Given the description of an element on the screen output the (x, y) to click on. 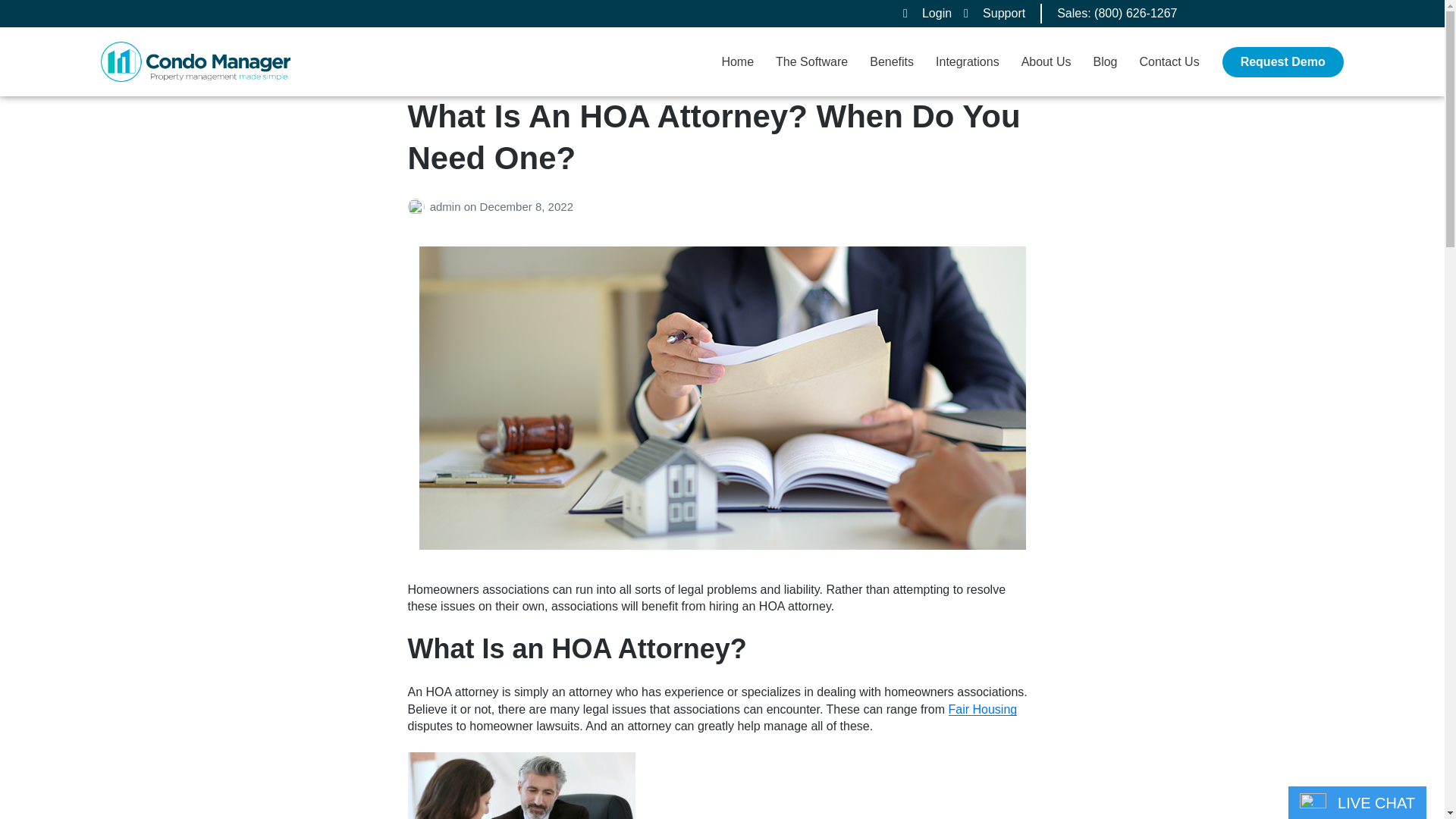
Benefits (891, 61)
About Us (1046, 61)
Support (994, 13)
Login (927, 13)
Posts by admin (418, 205)
Contact Us (1168, 61)
Home (737, 61)
The Software (811, 61)
Blog (1104, 61)
Integrations (967, 61)
